Given the description of an element on the screen output the (x, y) to click on. 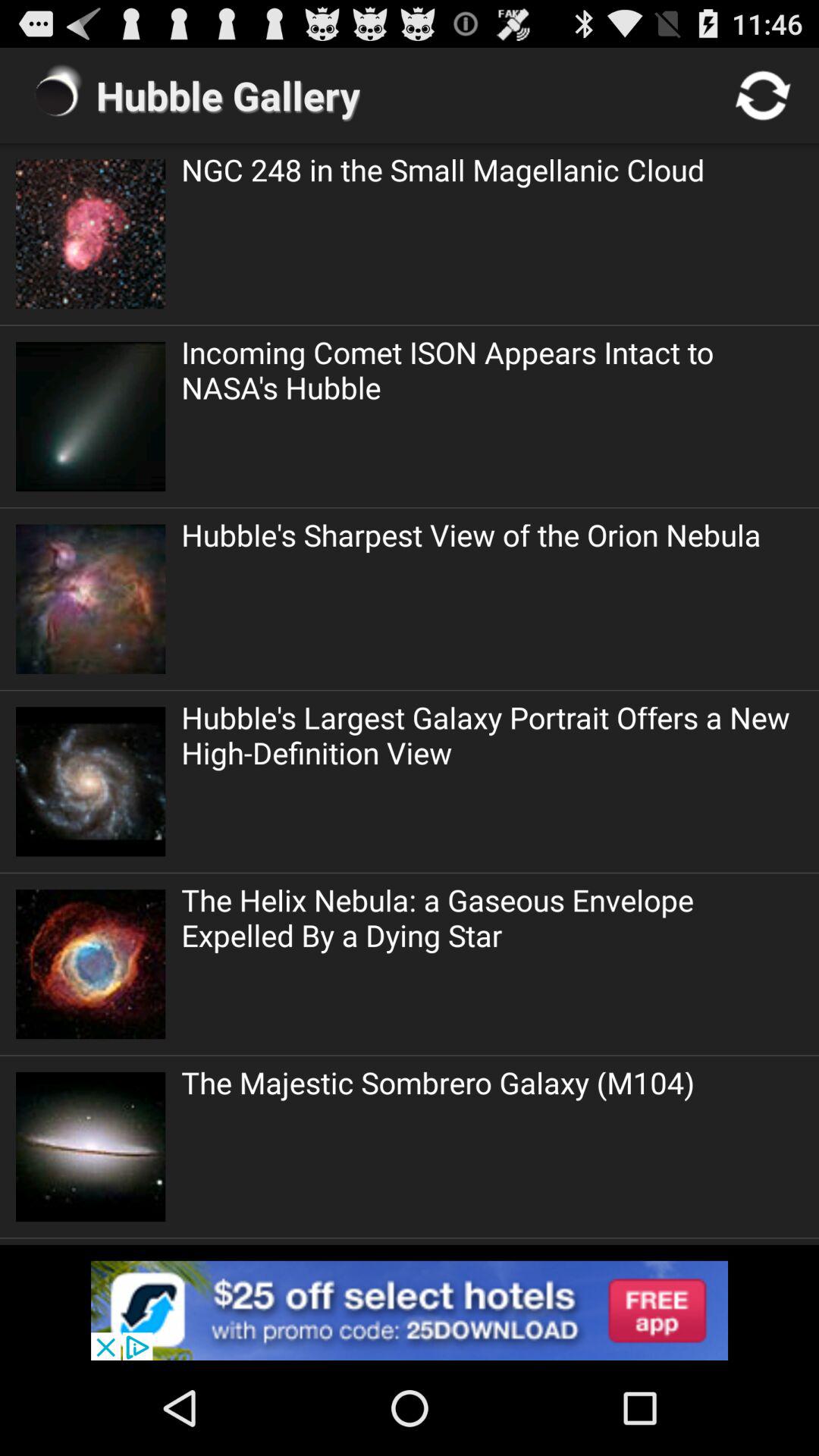
advertisement (409, 1310)
